Given the description of an element on the screen output the (x, y) to click on. 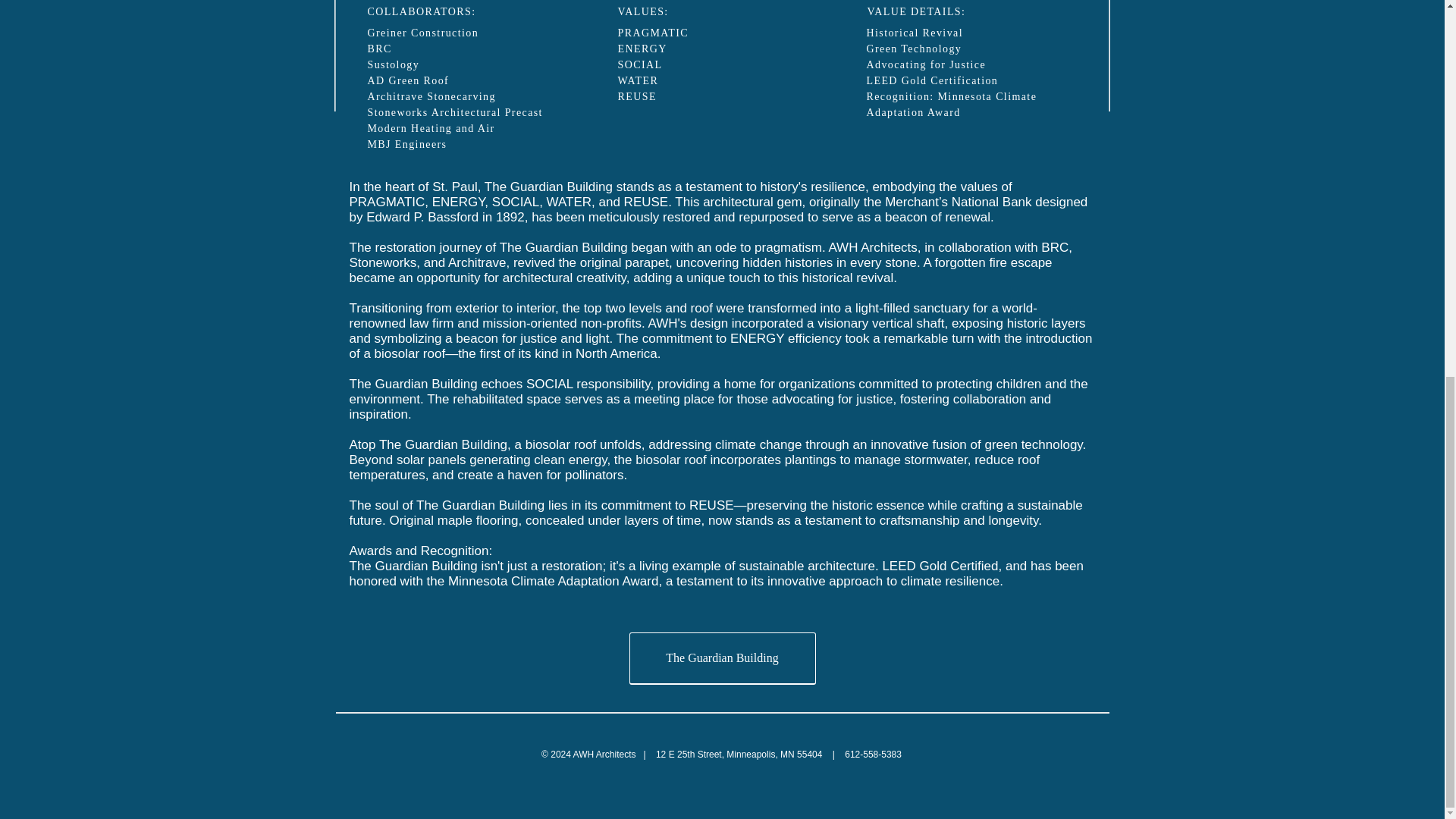
The Guardian Building (721, 658)
